Given the description of an element on the screen output the (x, y) to click on. 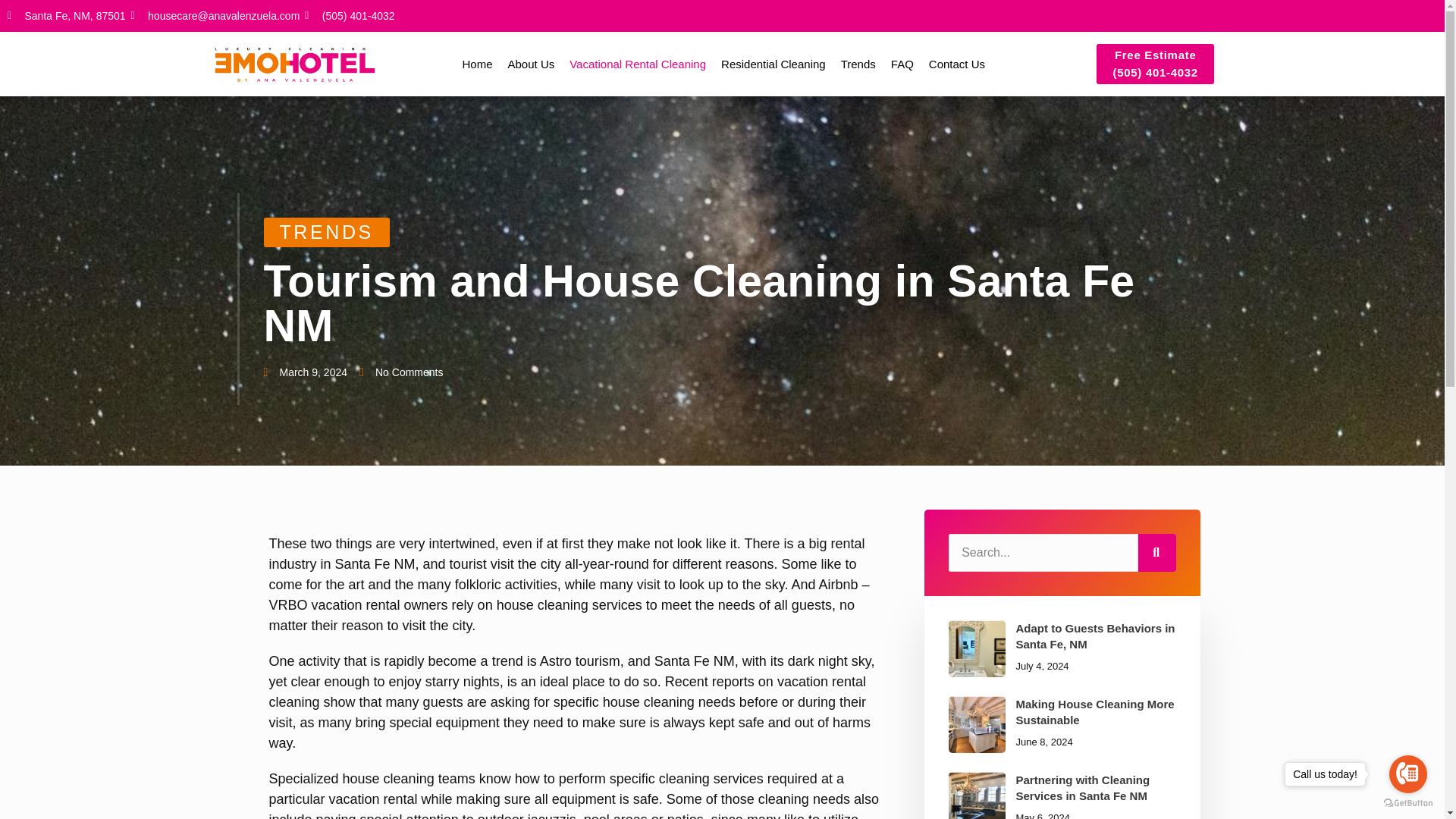
Trends (857, 64)
FAQ (902, 64)
Home (477, 64)
Tourism and House Cleaning in Santa Fe NM (723, 371)
TRENDS (723, 303)
Residential Cleaning (325, 231)
Contact Us (772, 64)
March 9, 2024 (956, 64)
Adapt to Guests Behaviors in Santa Fe, NM (297, 371)
No Comments (1095, 635)
Vacational Rental Cleaning (396, 371)
TRENDS (637, 64)
